Given the description of an element on the screen output the (x, y) to click on. 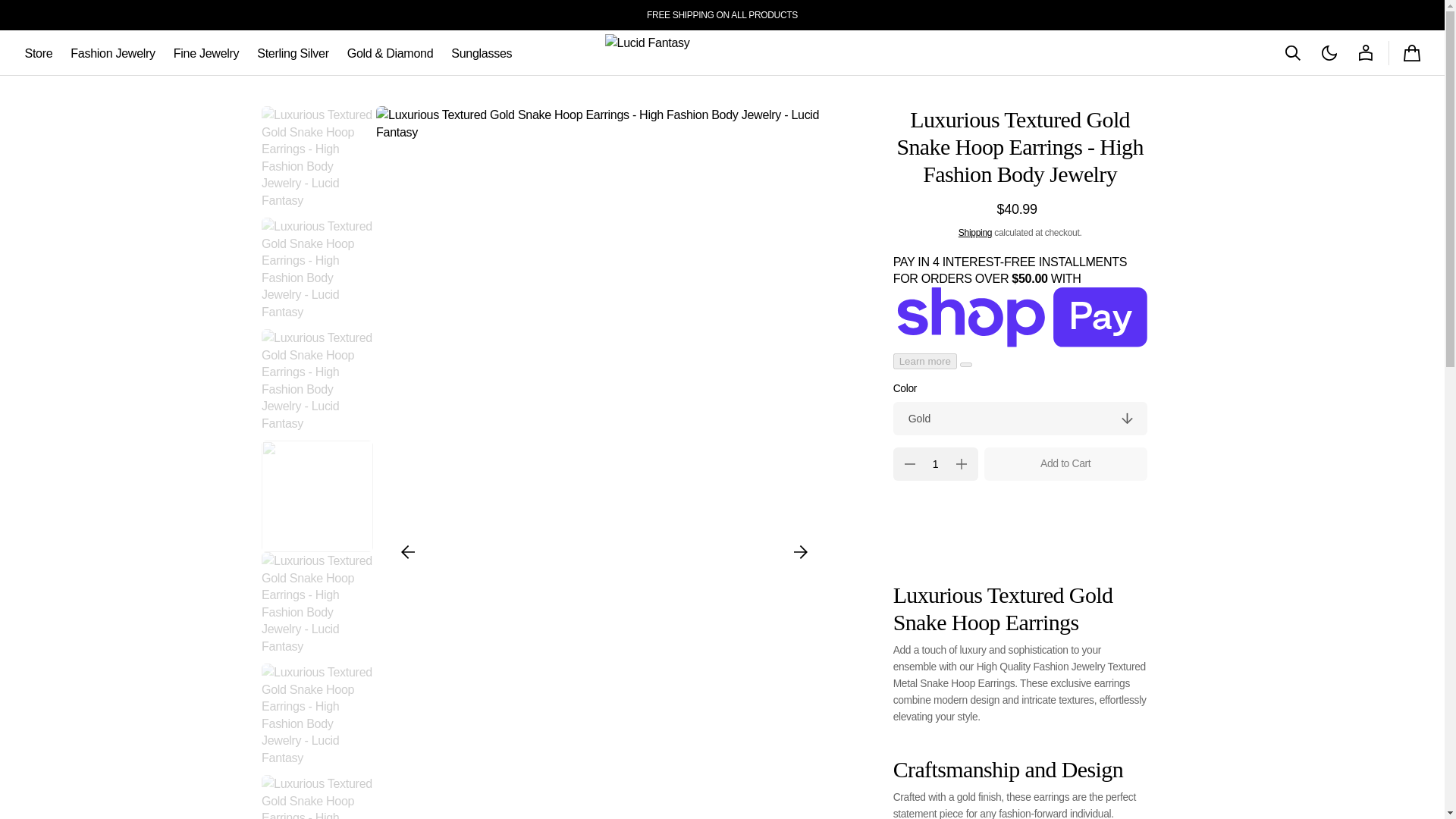
Sunglasses (481, 53)
Skip to content (17, 16)
Sterling Silver (293, 53)
Fashion Jewelry (111, 53)
Color (1020, 418)
Fine Jewelry (205, 53)
